Given the description of an element on the screen output the (x, y) to click on. 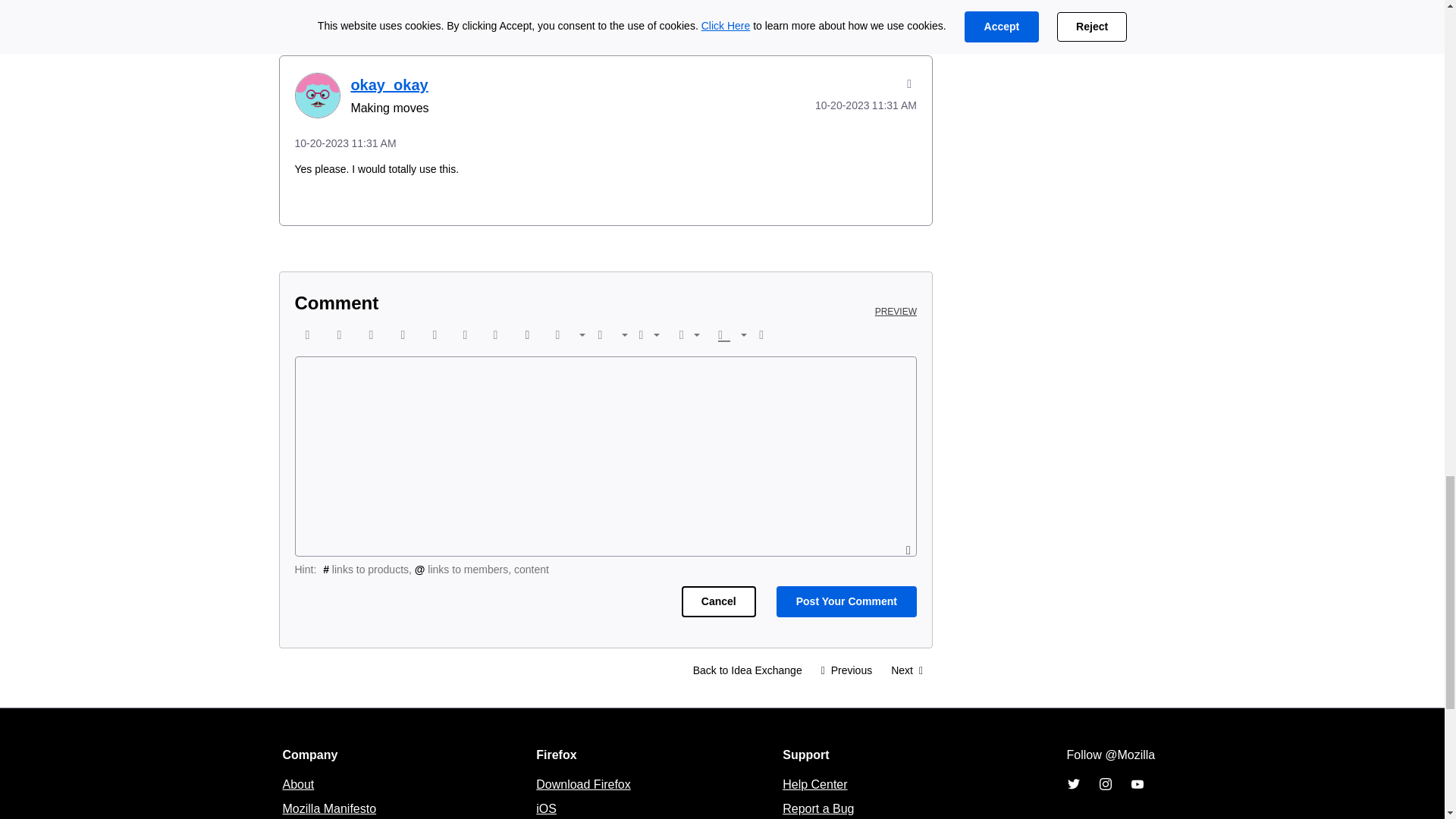
Cancel (718, 601)
Post Your Comment (846, 601)
